Given the description of an element on the screen output the (x, y) to click on. 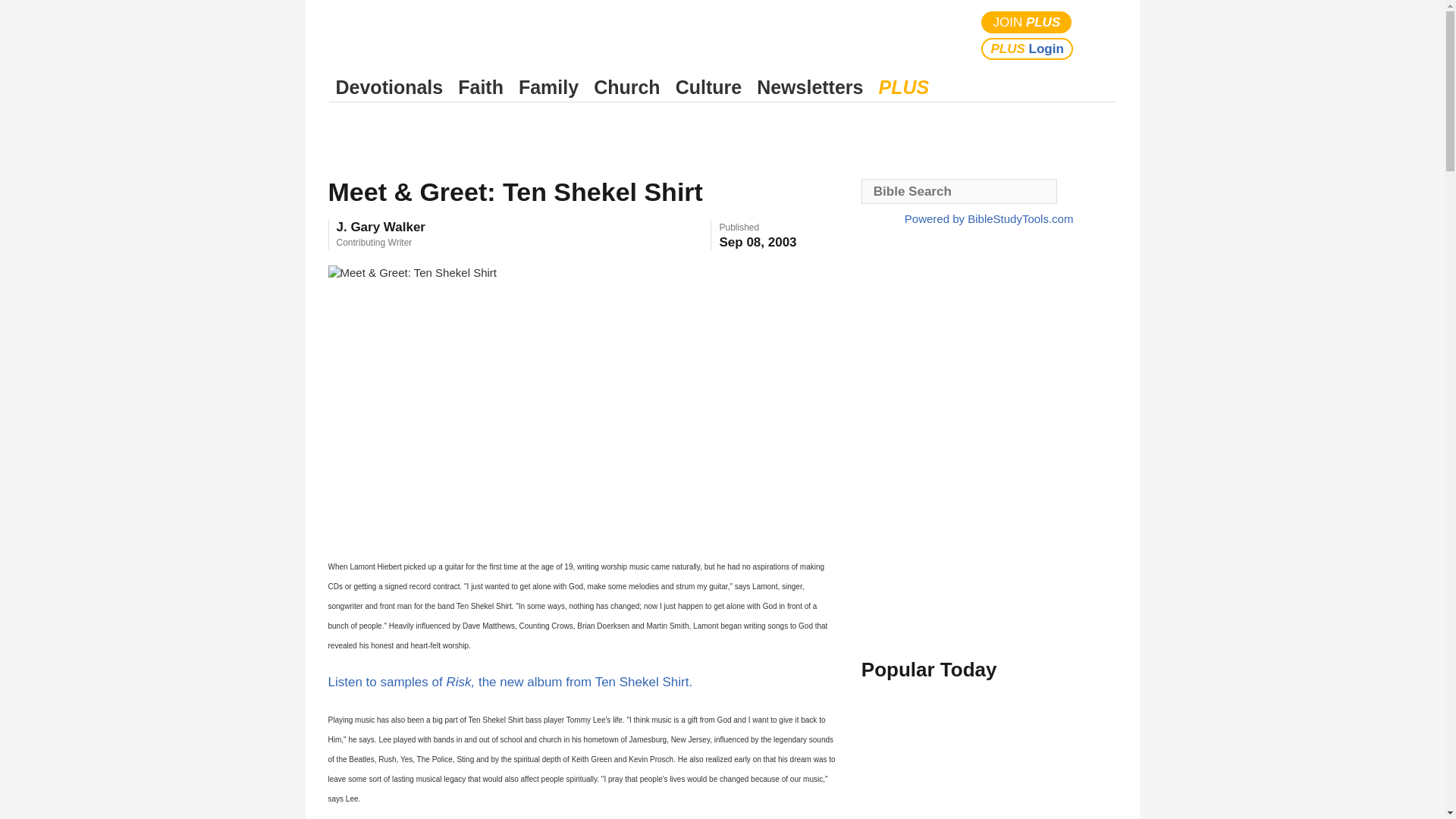
Devotionals (389, 87)
Faith (481, 87)
Search (1101, 34)
JOIN PLUS (1026, 22)
Join Plus (1026, 22)
Plus Login (1026, 48)
PLUS Login (1026, 48)
Family (548, 87)
